Given the description of an element on the screen output the (x, y) to click on. 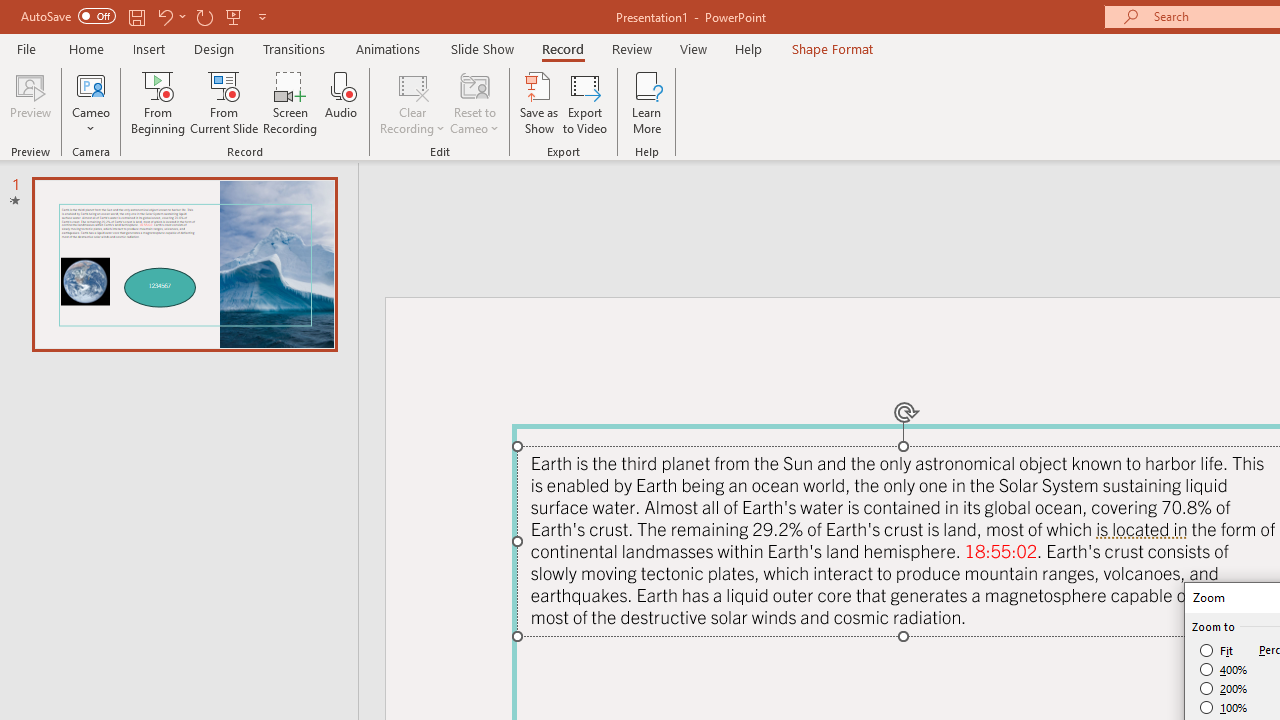
Fit (1217, 650)
400% (1224, 669)
